Given the description of an element on the screen output the (x, y) to click on. 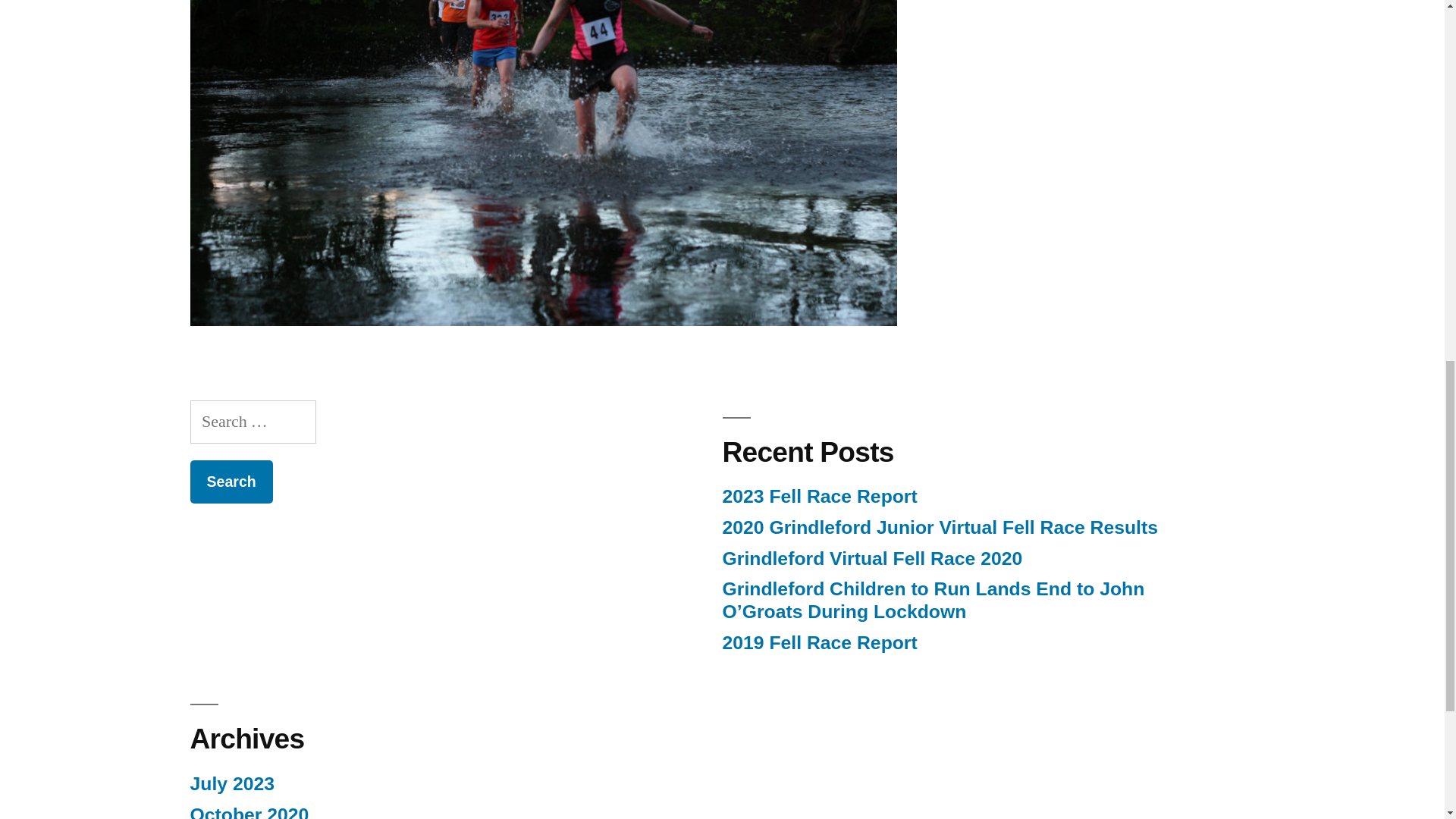
2019 Fell Race Report (819, 642)
Search (230, 481)
July 2023 (231, 783)
2023 Fell Race Report (819, 496)
2020 Grindleford Junior Virtual Fell Race Results (939, 526)
Grindleford Virtual Fell Race 2020 (872, 557)
October 2020 (248, 811)
Search (230, 481)
Search (230, 481)
